Given the description of an element on the screen output the (x, y) to click on. 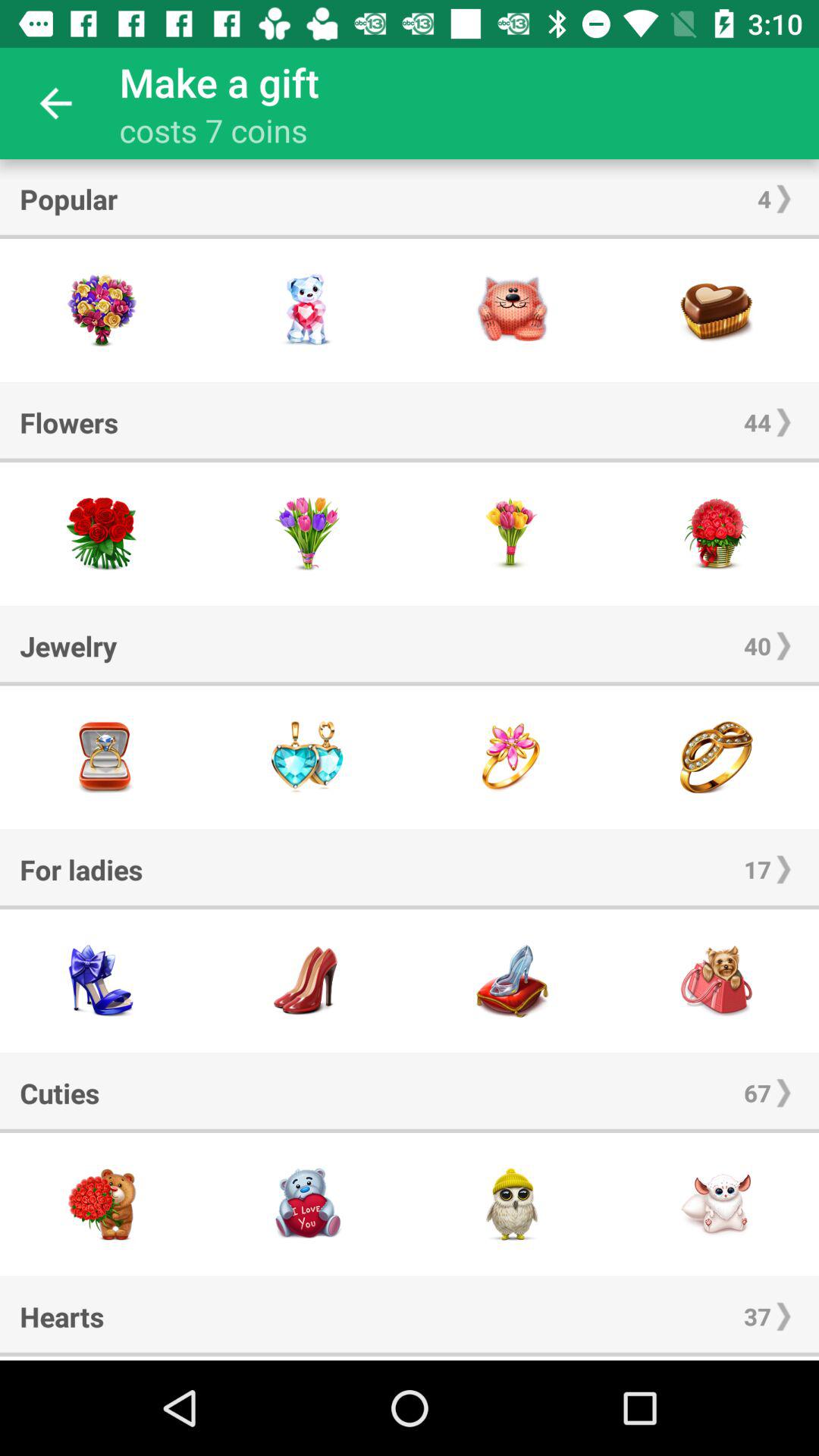
press the item to the left of 17 item (80, 869)
